Given the description of an element on the screen output the (x, y) to click on. 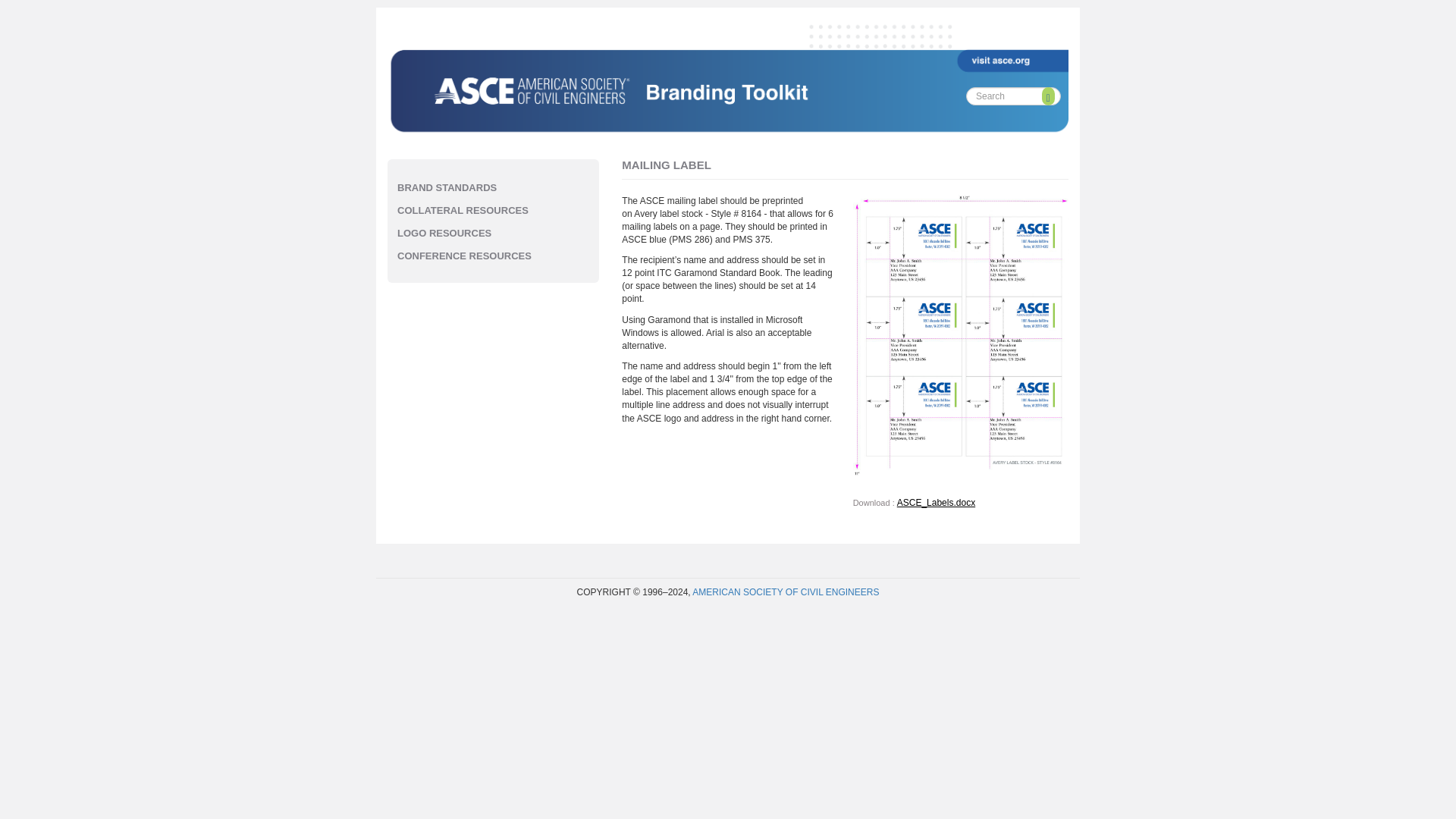
BRAND STANDARDS (446, 187)
ASCE (990, 45)
Home (732, 74)
Enter the terms you wish to search for. (1013, 95)
ASCE (990, 45)
